Given the description of an element on the screen output the (x, y) to click on. 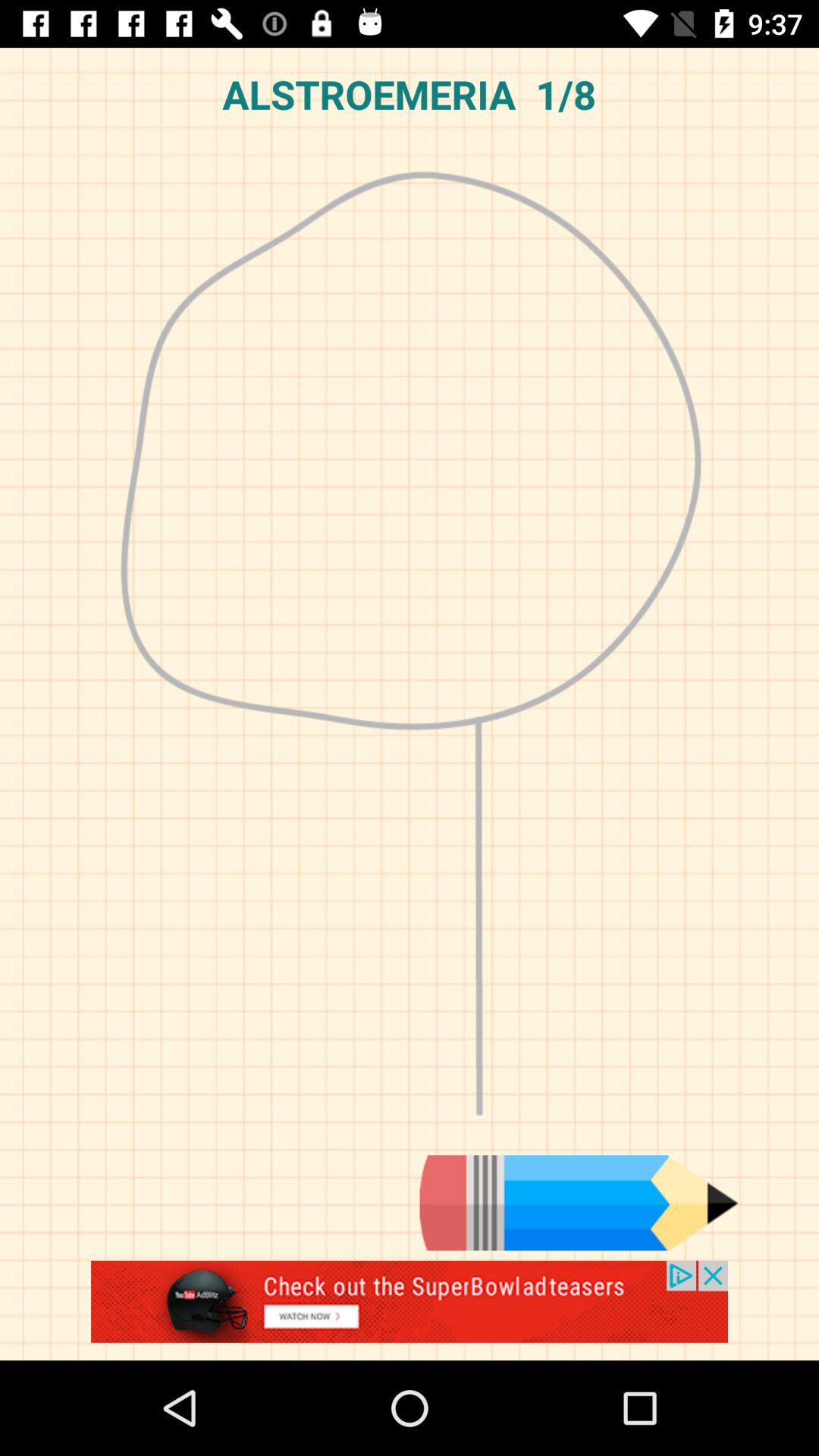
advertisement box (409, 1310)
